Given the description of an element on the screen output the (x, y) to click on. 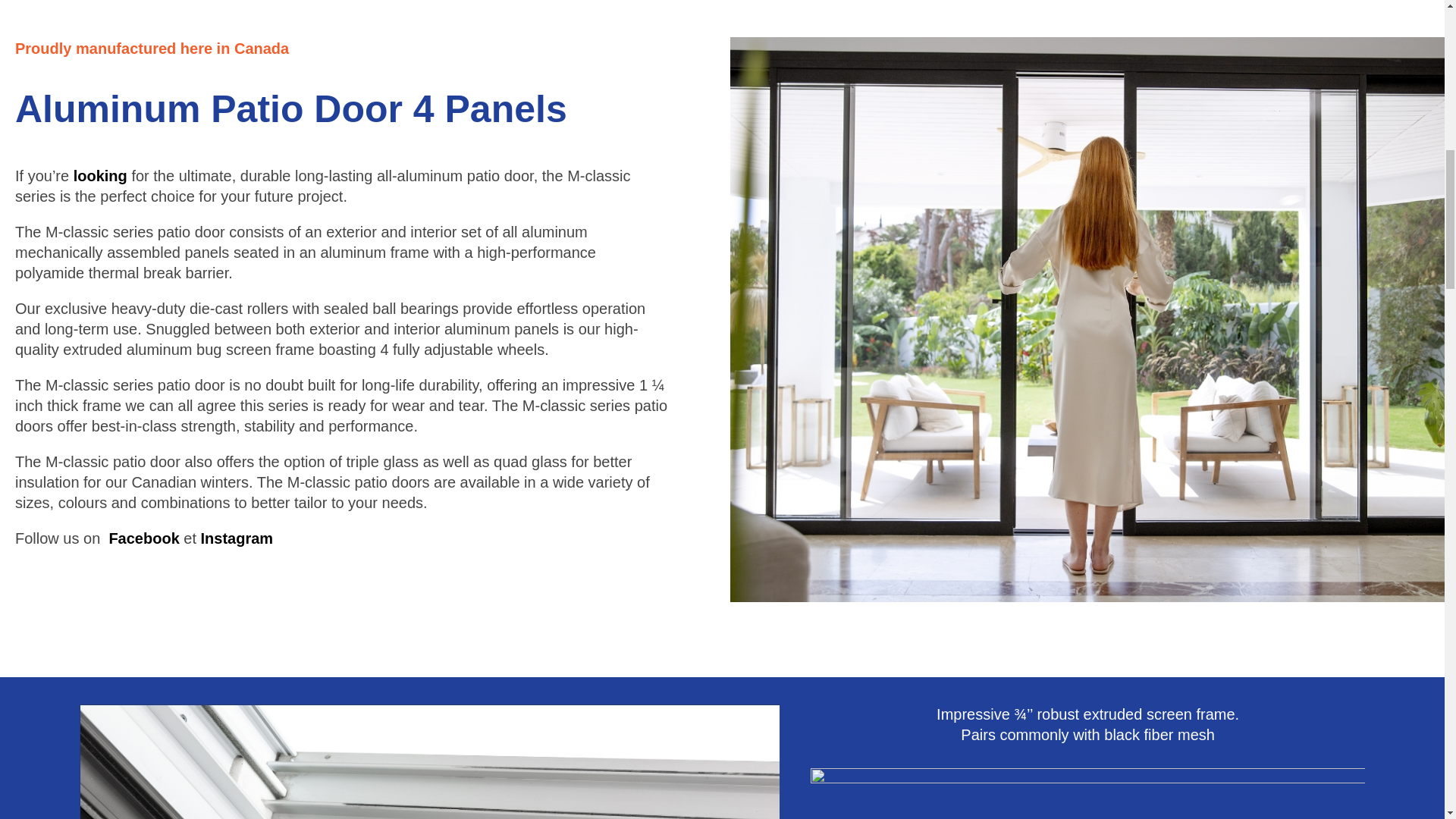
looking (101, 175)
Instagram (236, 538)
Facebook (143, 538)
